Given the description of an element on the screen output the (x, y) to click on. 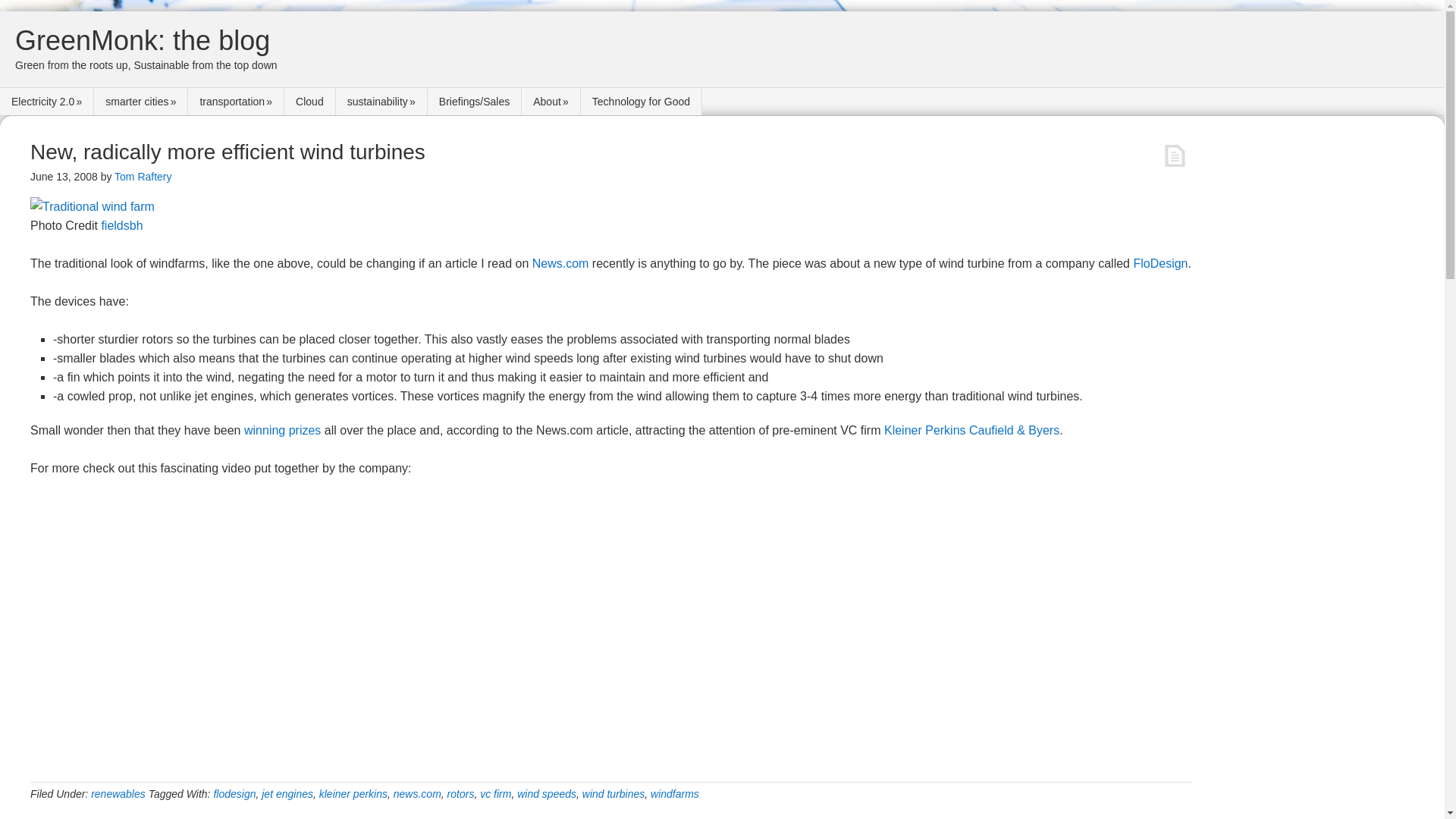
Cloud (309, 101)
winning (264, 430)
sustainability (382, 101)
New, radically more efficient wind turbines (227, 151)
GreenMonk: the blog (141, 40)
New, radically more efficient wind turbines (227, 151)
FloDesign (1160, 263)
smarter cities (140, 101)
Electricity 2.0 (47, 101)
Technology for Good (640, 101)
GreenMonk: the blog (141, 40)
Tom Raftery (143, 176)
fieldsbh (121, 225)
transportation (235, 101)
Traditional wind farm (92, 205)
